Given the description of an element on the screen output the (x, y) to click on. 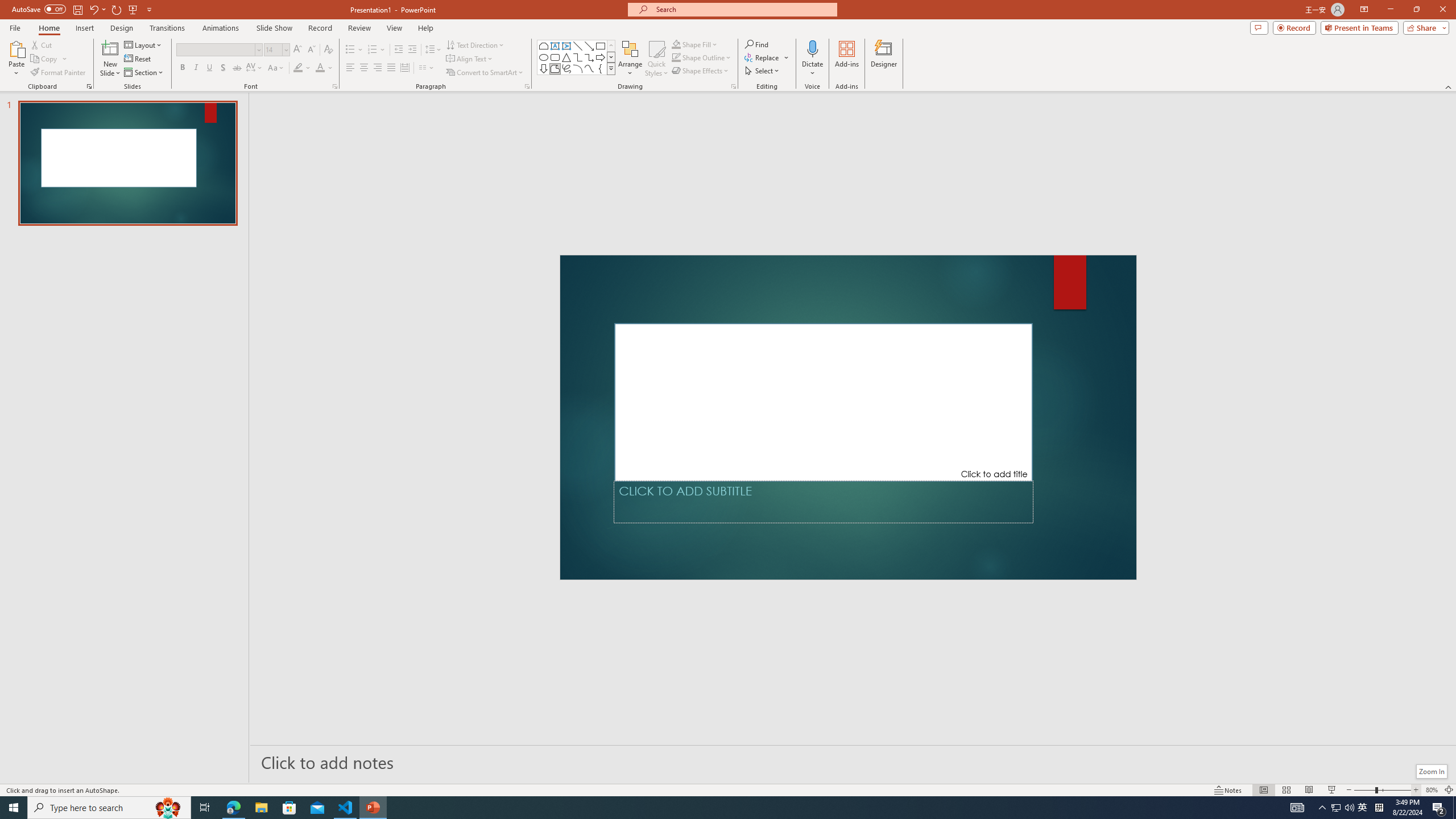
Shape Outline Blue, Accent 1 (675, 56)
